Given the description of an element on the screen output the (x, y) to click on. 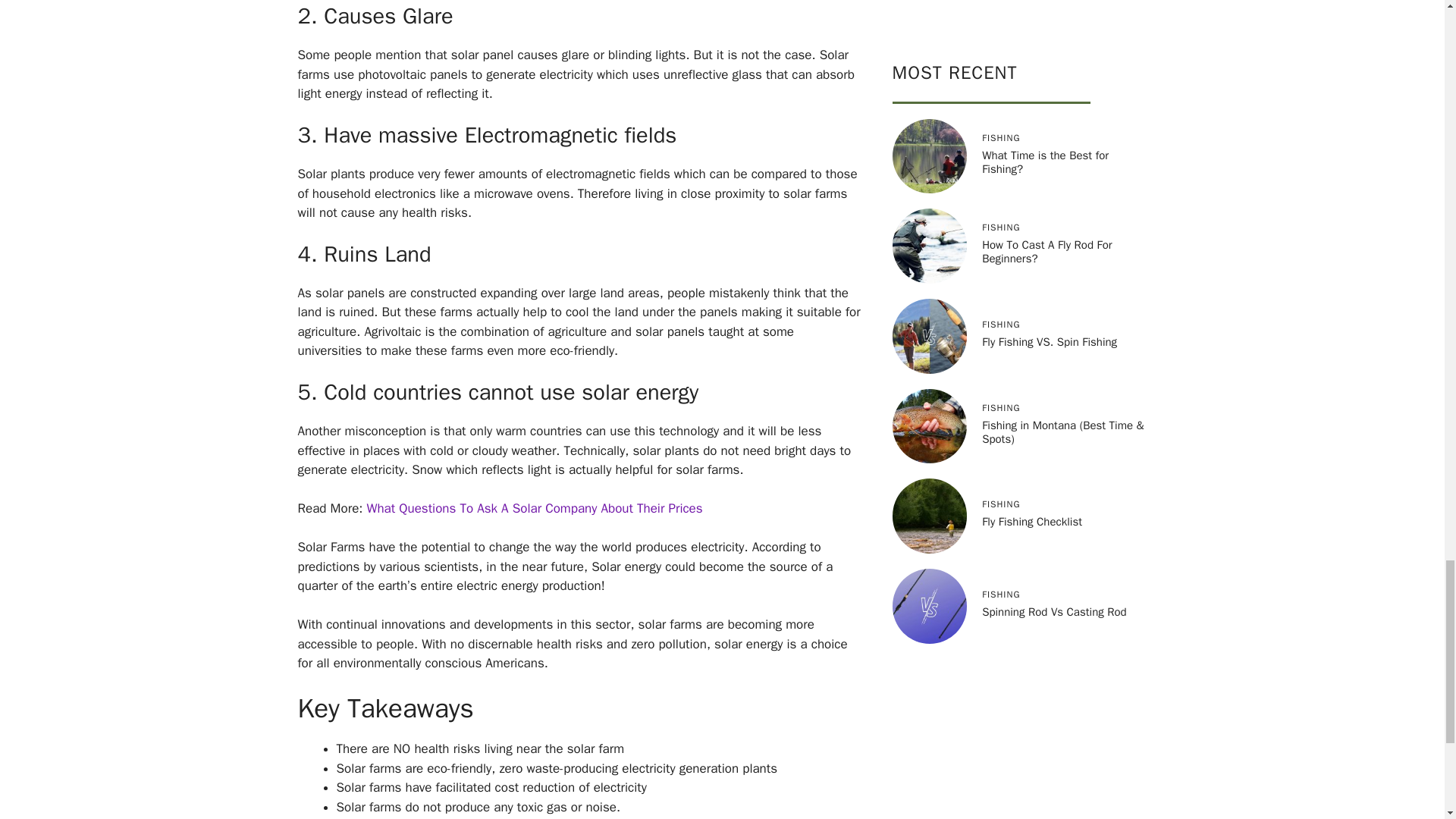
What Questions To Ask A Solar Company About Their Prices (534, 508)
